Given the description of an element on the screen output the (x, y) to click on. 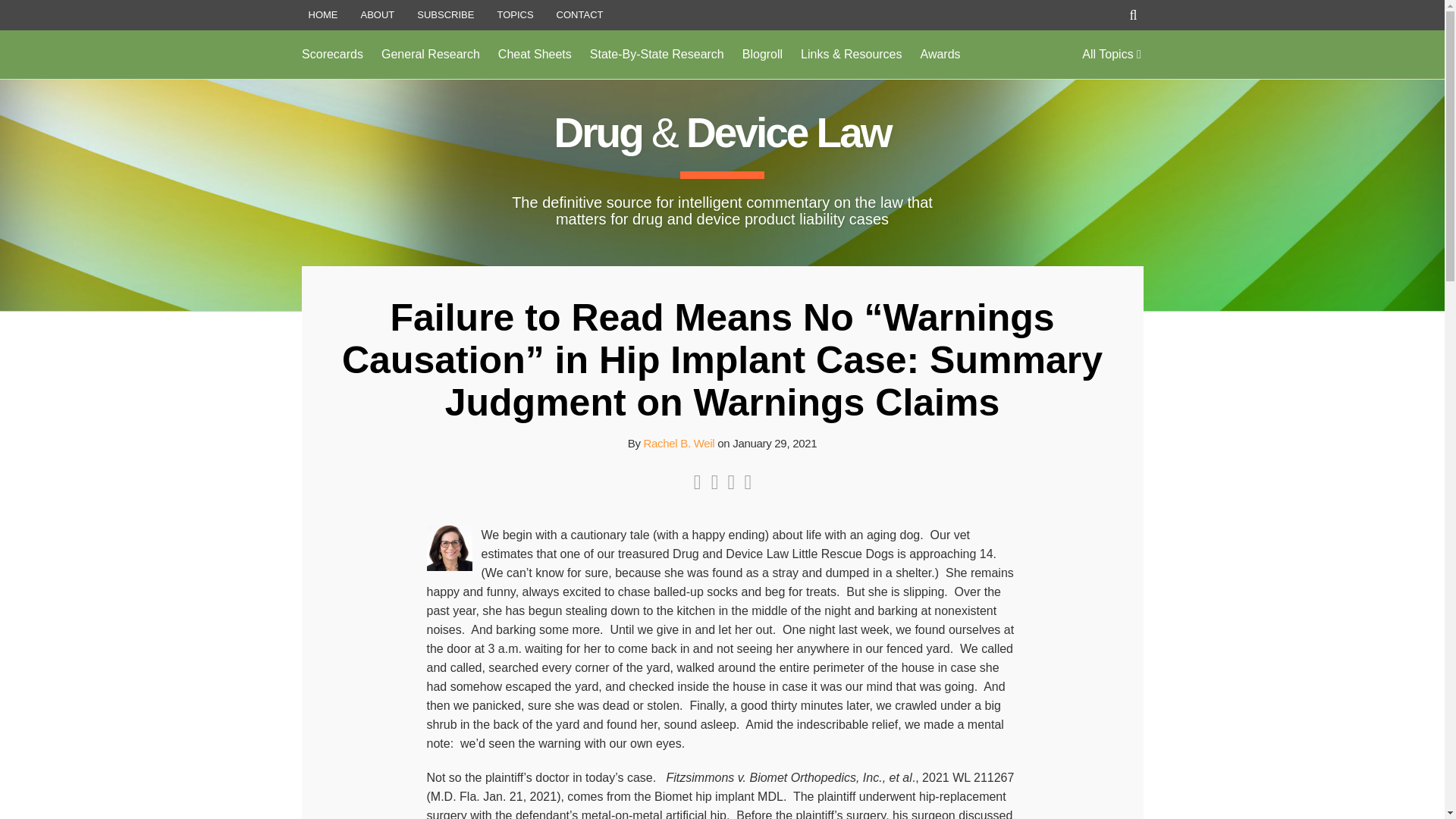
Rachel B. Weil (678, 442)
Scorecards (331, 54)
Awards (940, 54)
SUBSCRIBE (445, 14)
Cheat Sheets (534, 54)
All Topics (1111, 54)
General Research (430, 54)
ABOUT (377, 14)
State-By-State Research (656, 54)
CONTACT (580, 14)
TOPICS (514, 14)
HOME (322, 14)
Blogroll (762, 54)
